Given the description of an element on the screen output the (x, y) to click on. 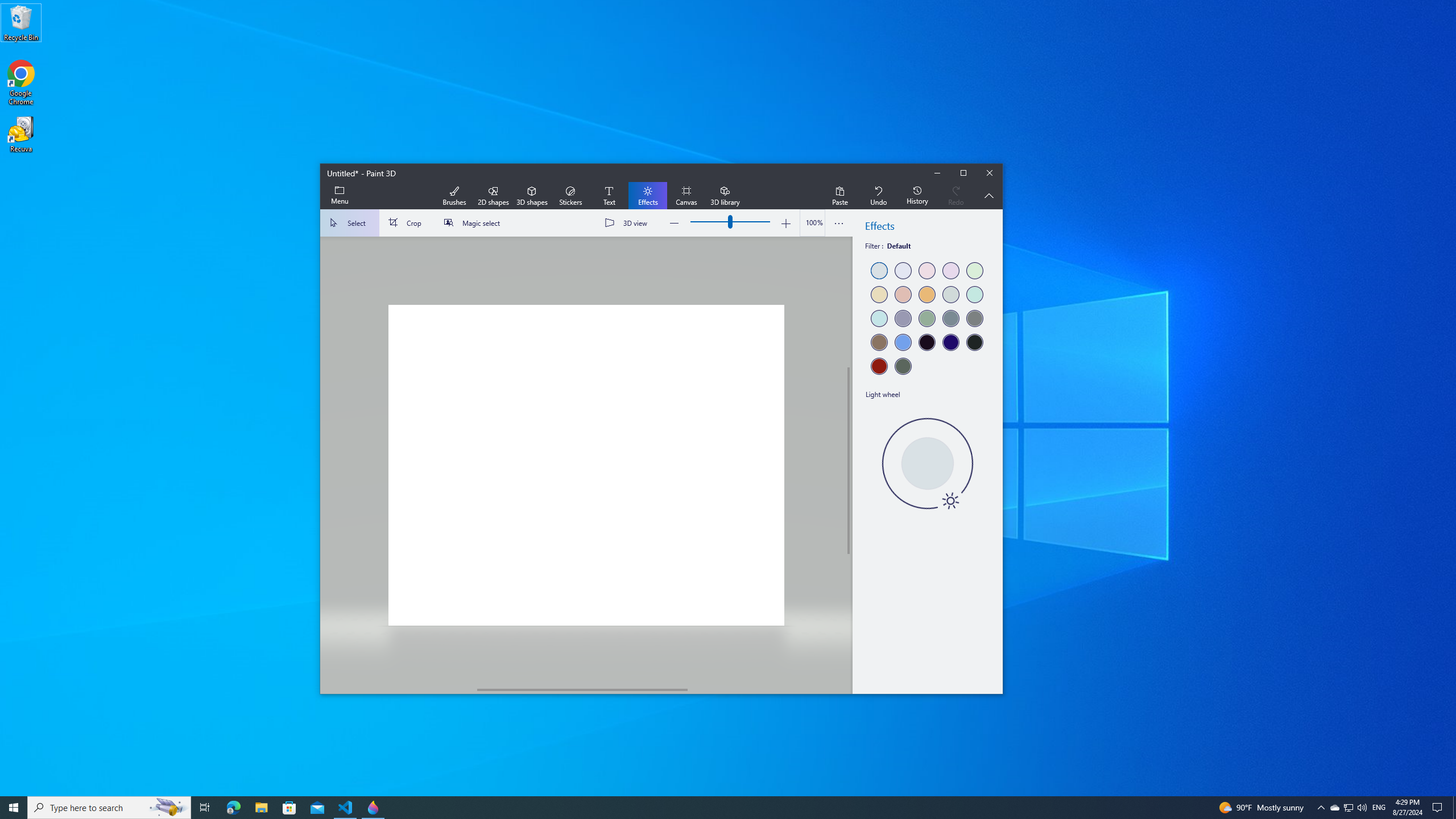
Paint 3D - 1 running window (373, 807)
Action Center, No new notifications (1439, 807)
Notification Chevron (1320, 807)
Google Chrome (21, 82)
Task View (204, 807)
Search highlights icon opens search home window (167, 807)
User Promoted Notification Area (1347, 807)
Type here to search (108, 807)
